Given the description of an element on the screen output the (x, y) to click on. 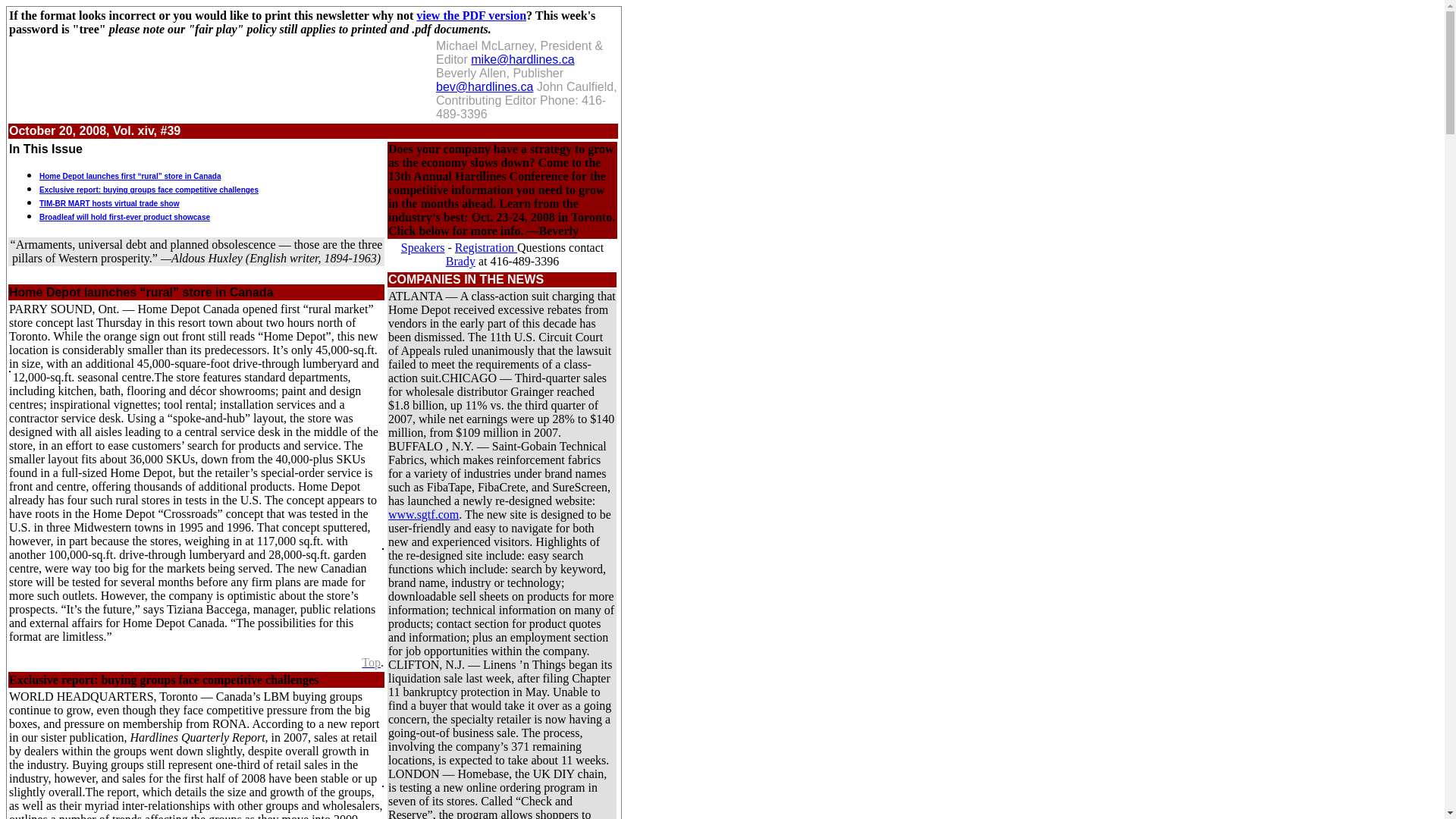
Registration (485, 246)
Broadleaf will hold first-ever product showcase (124, 216)
TIM-BR MART hosts virtual trade show (109, 203)
Exclusive report: buying groups face competitive challenges (149, 189)
Speakers (423, 246)
view the PDF version (470, 15)
Top (370, 662)
